Given the description of an element on the screen output the (x, y) to click on. 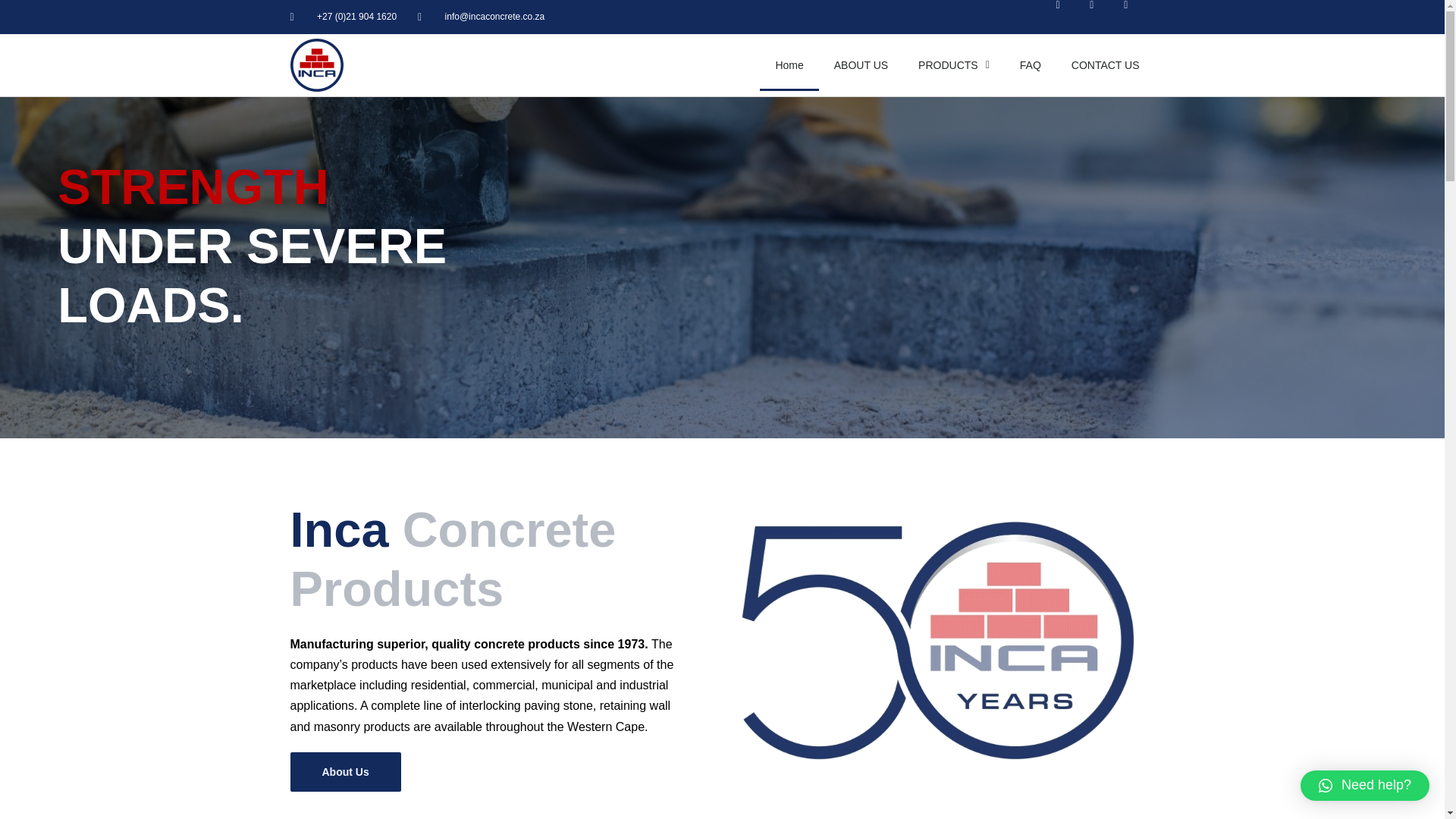
About Us (344, 771)
Home (789, 64)
Instagram (1103, 17)
CONTACT US (1105, 64)
FAQ (1030, 64)
Linkedin (1137, 17)
PRODUCTS (953, 64)
ABOUT US (860, 64)
Facebook-f (1069, 17)
